Given the description of an element on the screen output the (x, y) to click on. 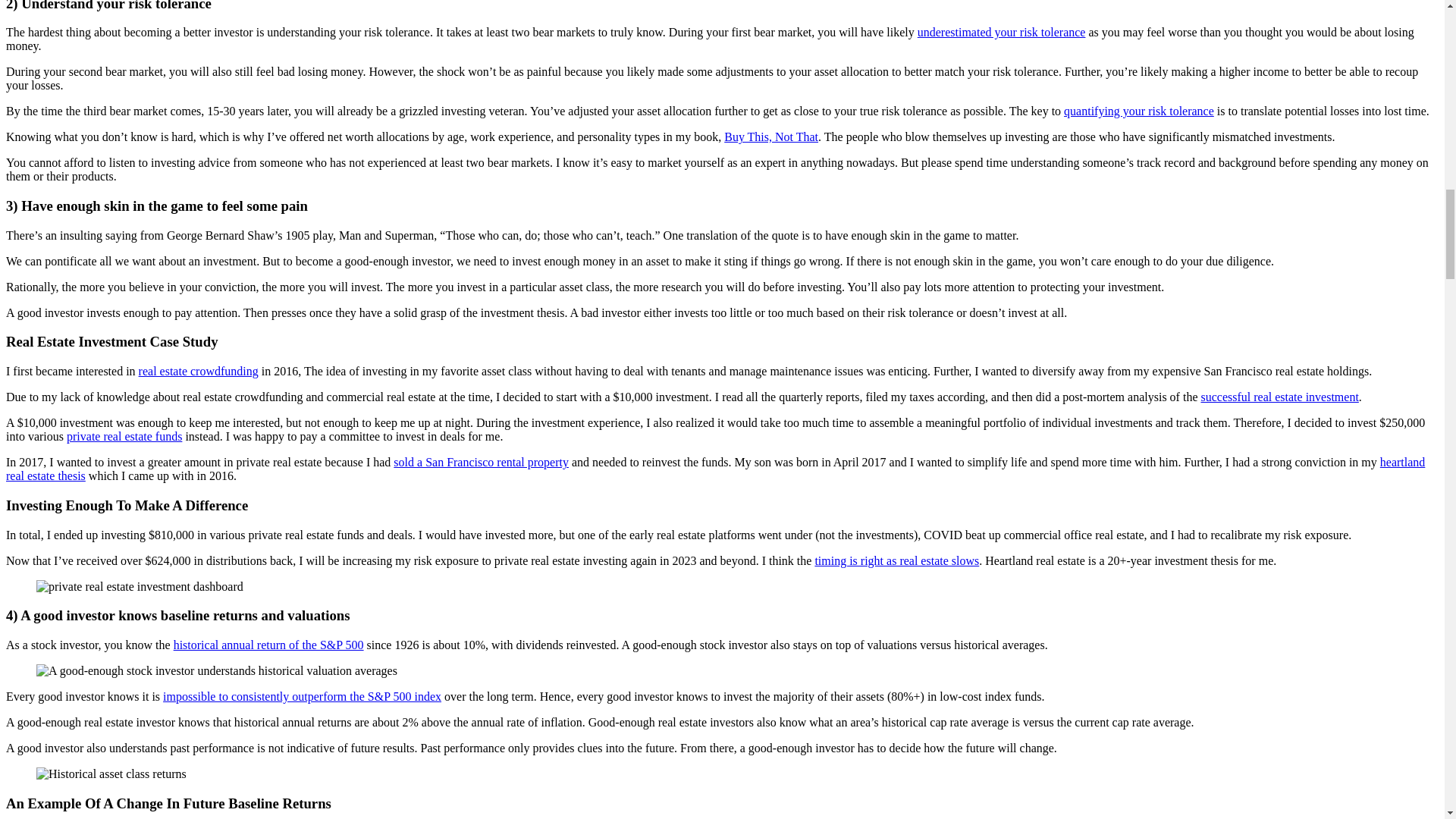
quantifying your risk tolerance (1139, 110)
real estate crowdfunding (198, 370)
successful real estate investment (1278, 396)
underestimated your risk tolerance (1001, 31)
Buy This, Not That (770, 136)
